Given the description of an element on the screen output the (x, y) to click on. 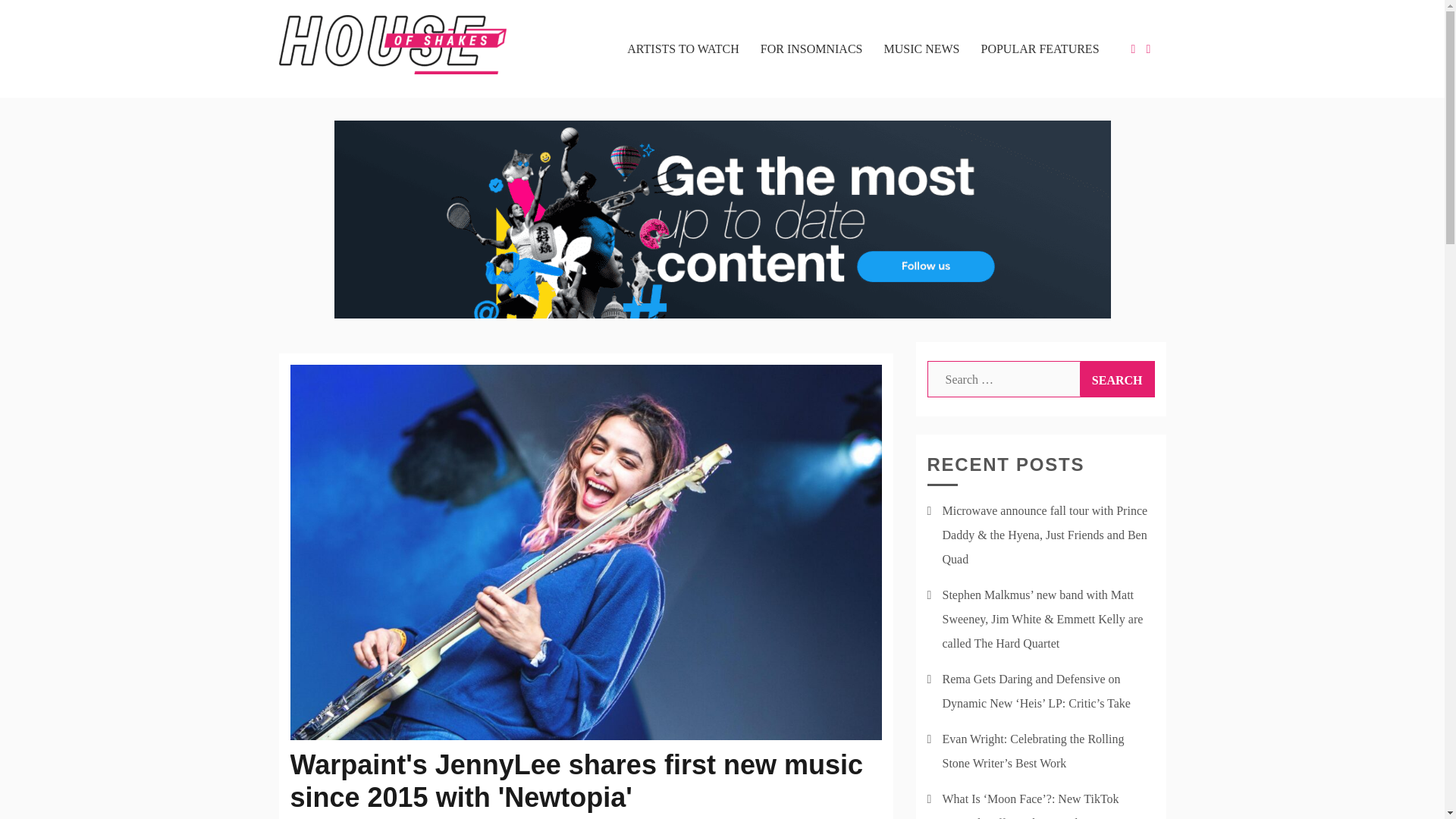
Search (1117, 379)
ARTISTS TO WATCH (683, 48)
Search (1117, 379)
POPULAR FEATURES (1040, 48)
MUSIC NEWS (921, 48)
FOR INSOMNIACS (811, 48)
House Of Shakes (379, 106)
Search (1117, 379)
